Given the description of an element on the screen output the (x, y) to click on. 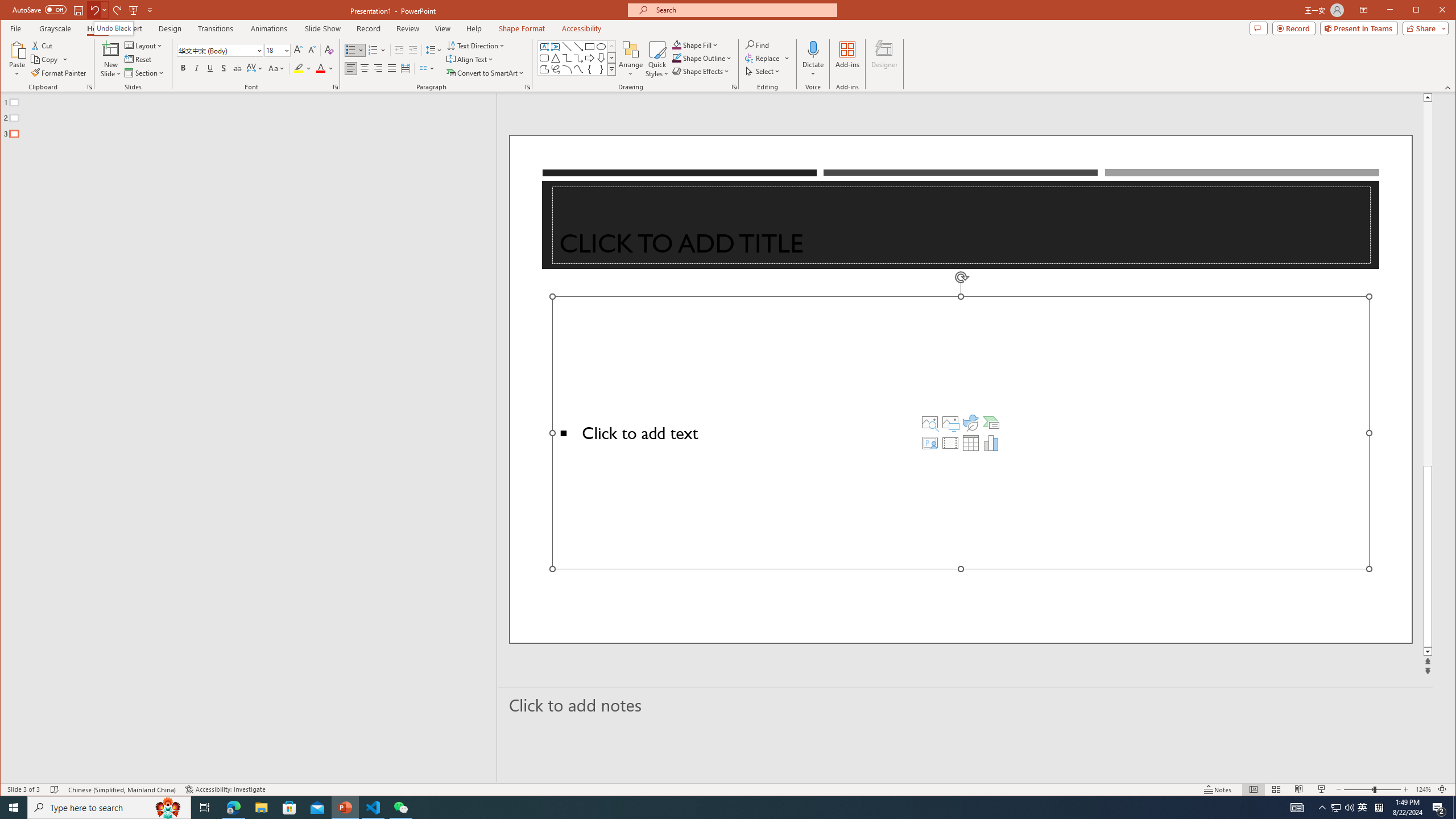
Justify (391, 68)
Class: MsoCommandBar (728, 789)
Shape Outline Blue, Accent 1 (676, 57)
Running applications (707, 807)
Q2790: 100% (1349, 807)
Visual Studio Code - 1 running window (373, 807)
Microsoft Store (289, 807)
Copy (49, 59)
Font Size (277, 49)
Microsoft search (742, 10)
Stock Images (929, 422)
Shape Fill Orange, Accent 2 (676, 44)
Numbering (373, 49)
